Given the description of an element on the screen output the (x, y) to click on. 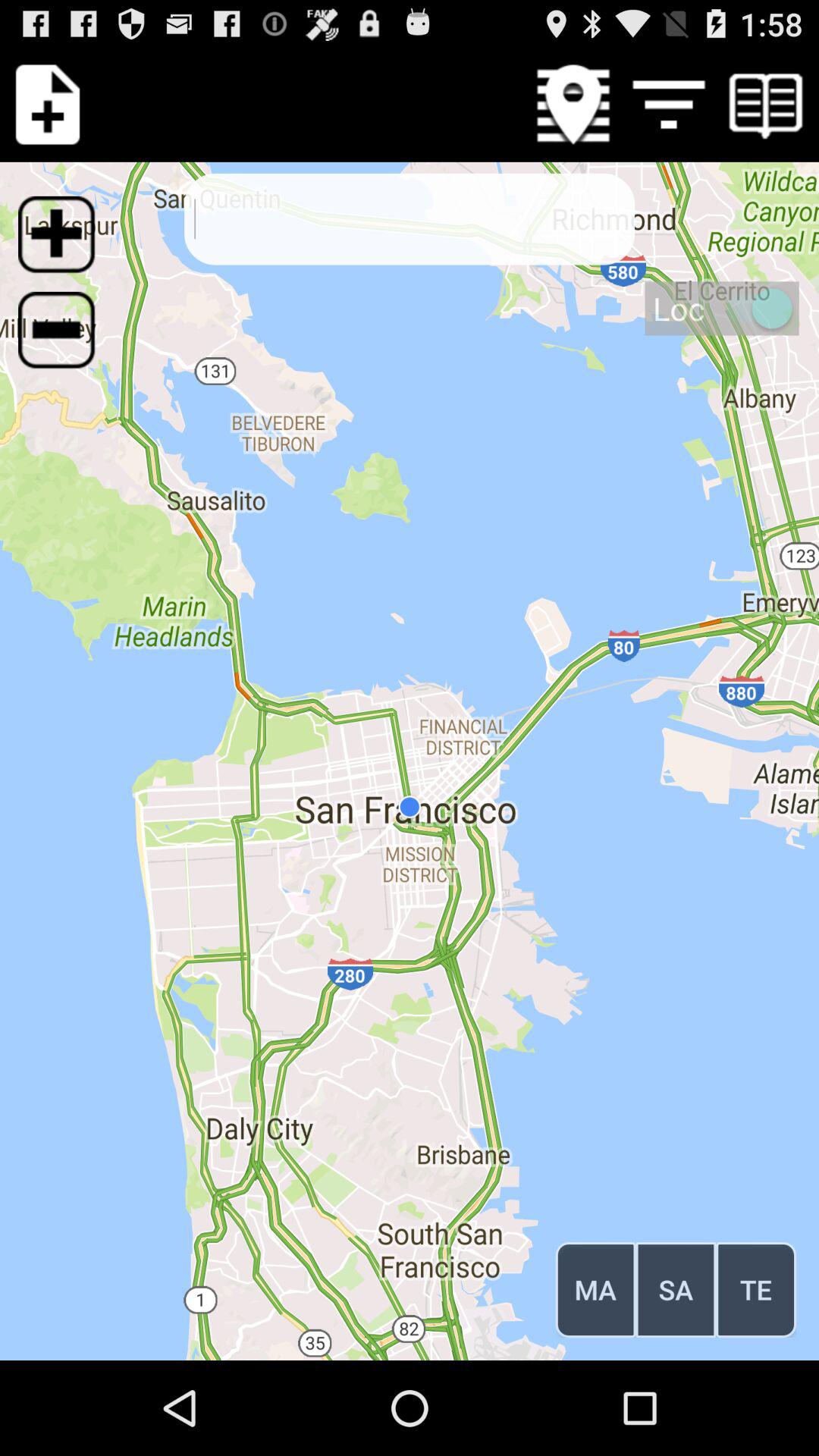
launch icon next to  loc (65, 339)
